Given the description of an element on the screen output the (x, y) to click on. 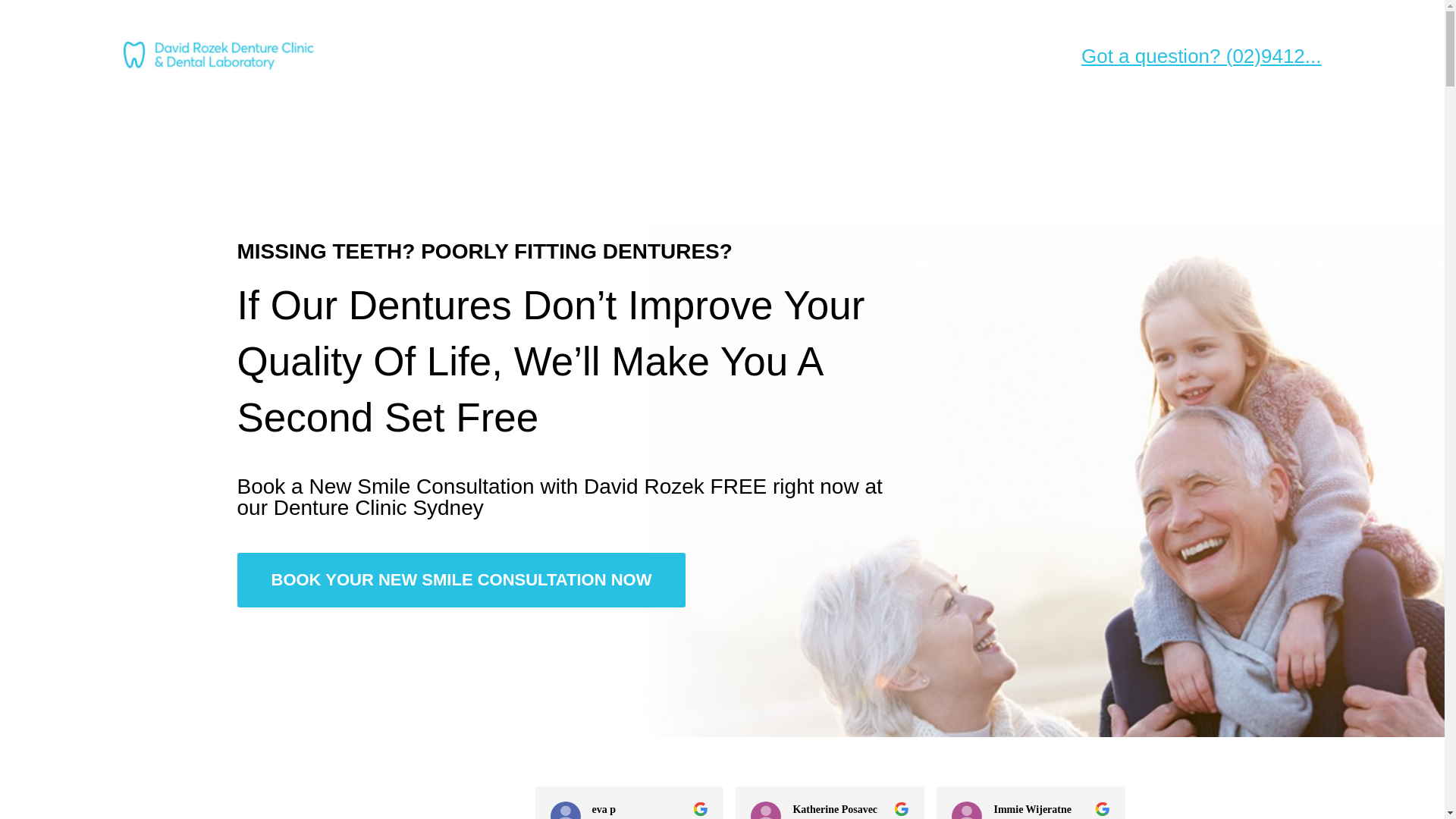
BOOK YOUR NEW SMILE CONSULTATION NOW (460, 579)
